Given the description of an element on the screen output the (x, y) to click on. 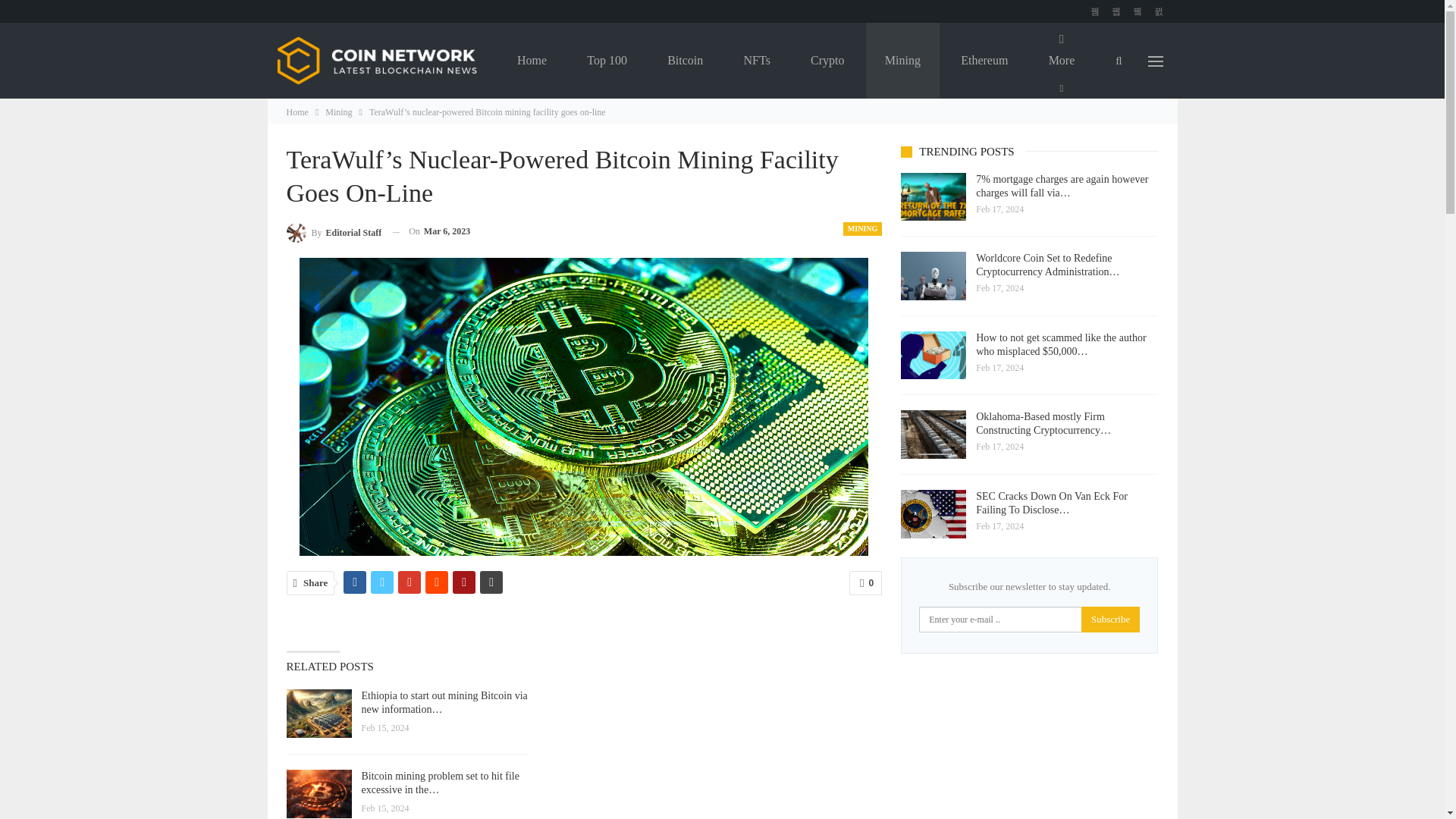
Bitcoin (684, 60)
By Editorial Staff (333, 231)
Browse Author Articles (333, 231)
Home (297, 112)
Mining (902, 60)
Home (531, 60)
Top 100 (606, 60)
Mining (338, 112)
Crypto (827, 60)
Ethereum (984, 60)
MINING (862, 228)
